Given the description of an element on the screen output the (x, y) to click on. 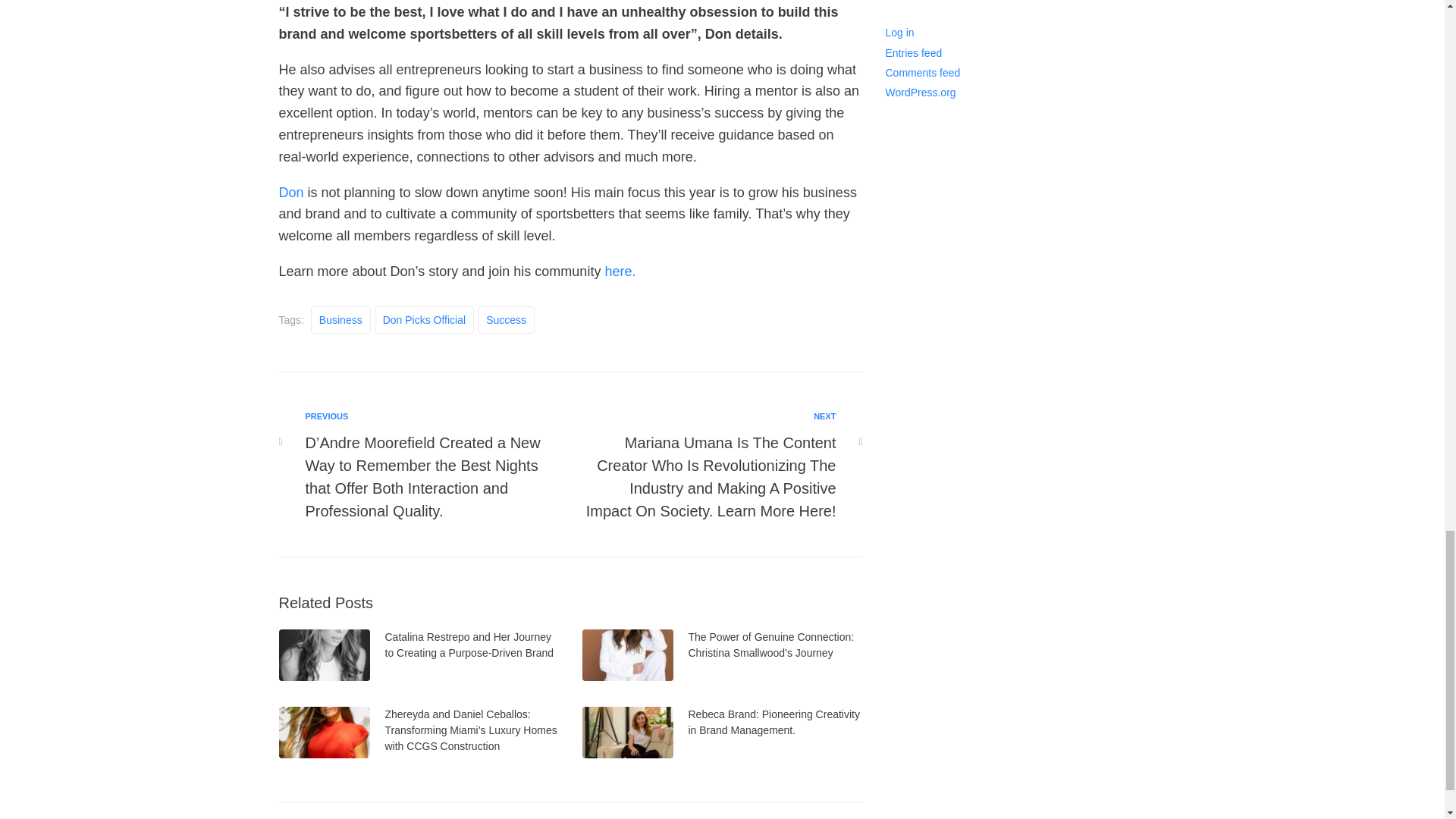
Don Picks Official (424, 319)
Don (291, 192)
Business (341, 319)
Rebeca Brand: Pioneering Creativity in Brand Management. (774, 722)
here. (619, 271)
Success (505, 319)
